Given the description of an element on the screen output the (x, y) to click on. 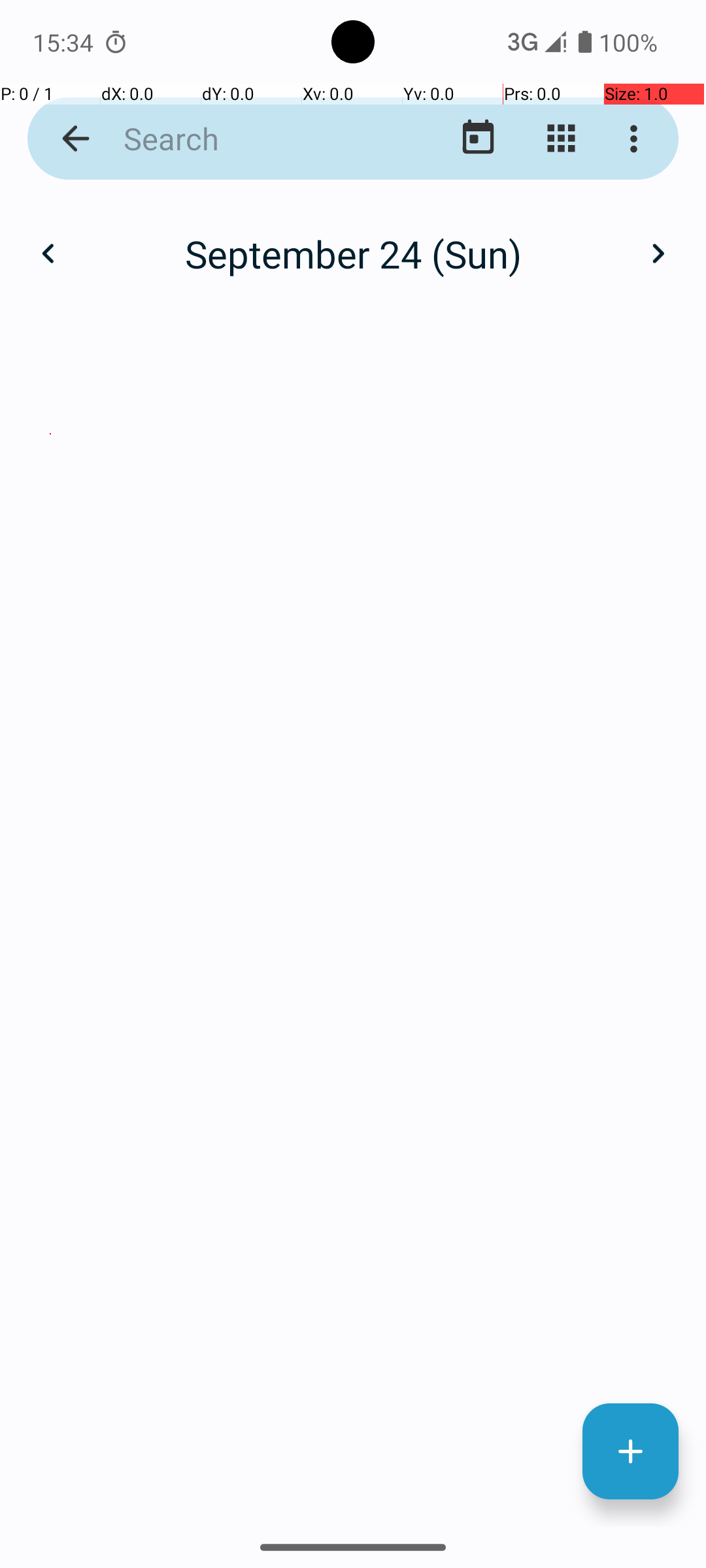
Go to today Element type: android.widget.Button (477, 138)
September 24 (Sun) Element type: android.widget.TextView (352, 253)
